Given the description of an element on the screen output the (x, y) to click on. 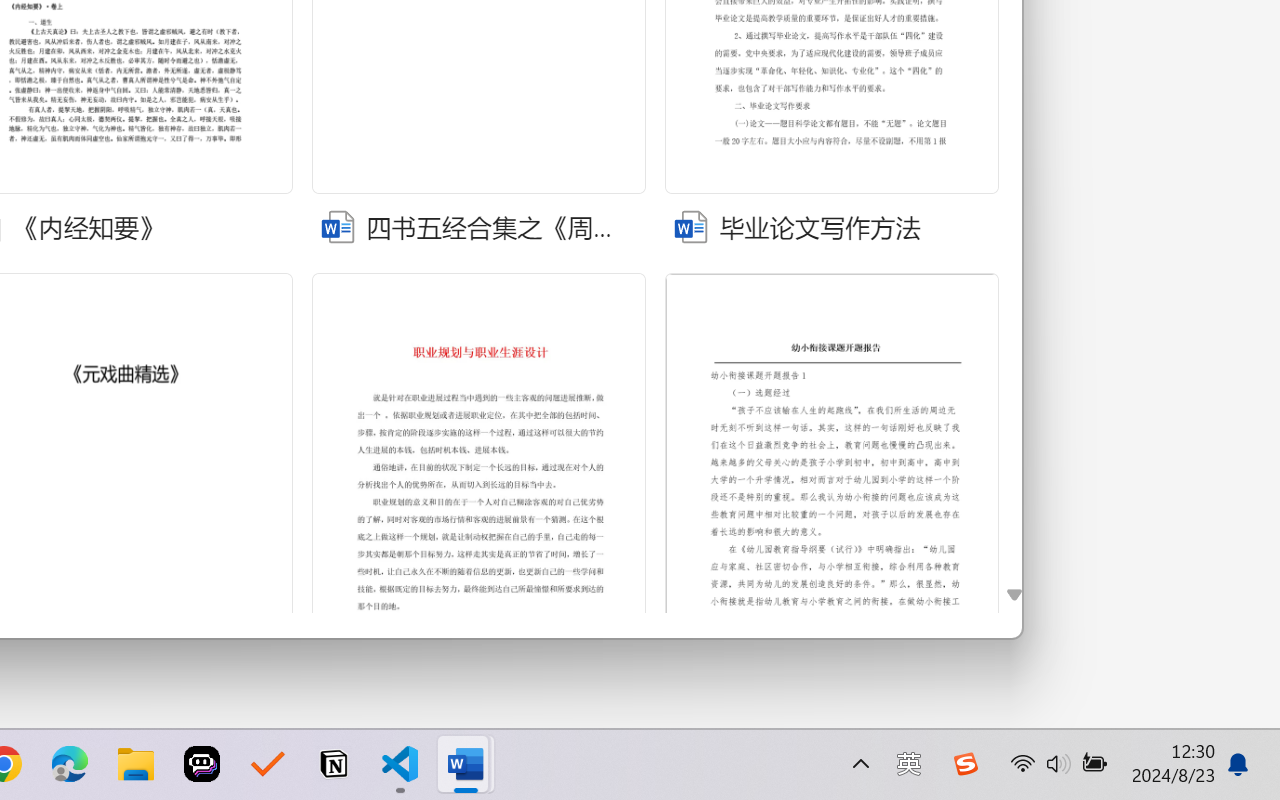
Class: ___510cvc0 f64fuq3 fjamq6b f11u7vat (688, 224)
